Given the description of an element on the screen output the (x, y) to click on. 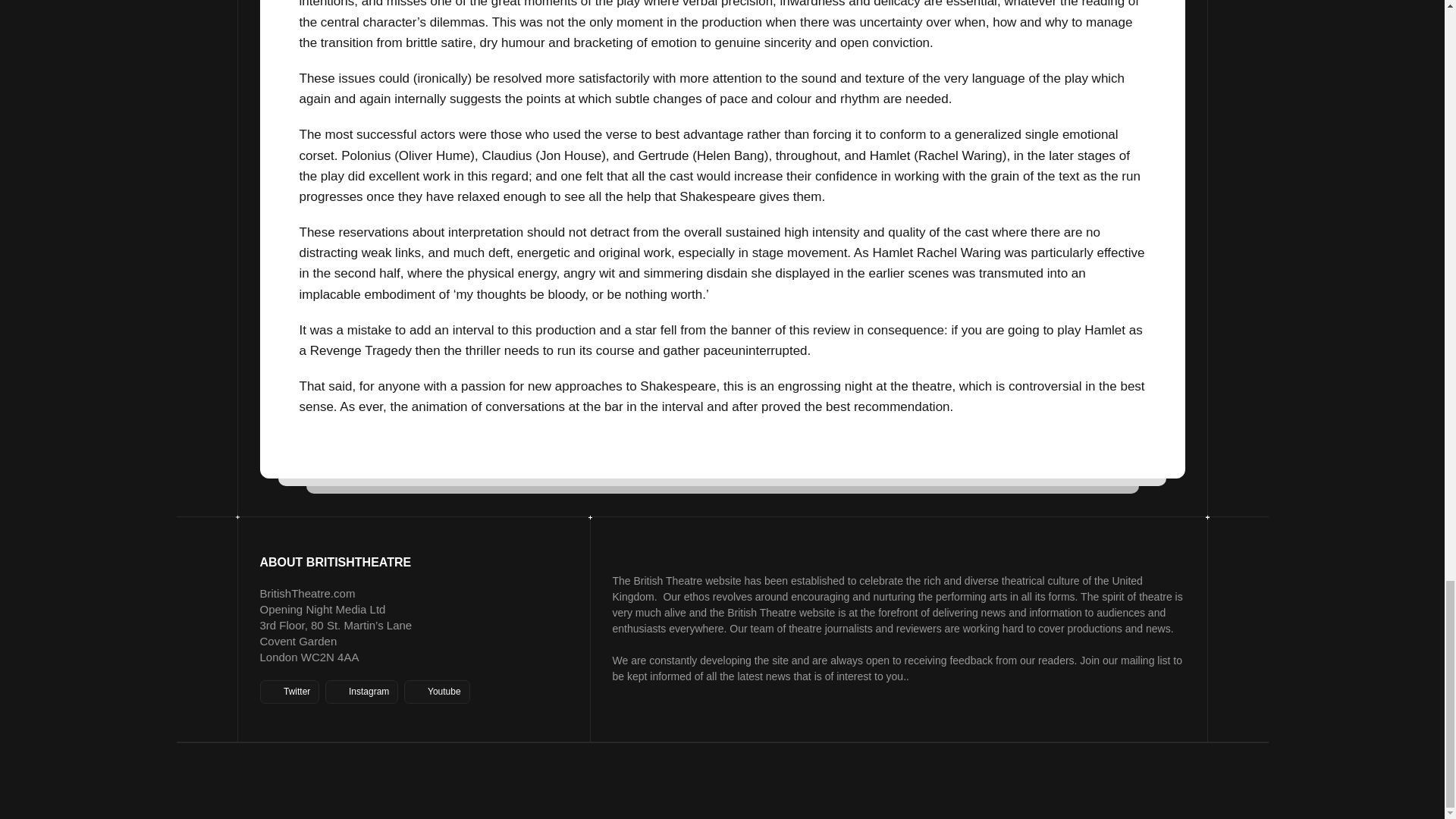
Instagram (360, 691)
Twitter (288, 691)
Youtube (437, 691)
